Given the description of an element on the screen output the (x, y) to click on. 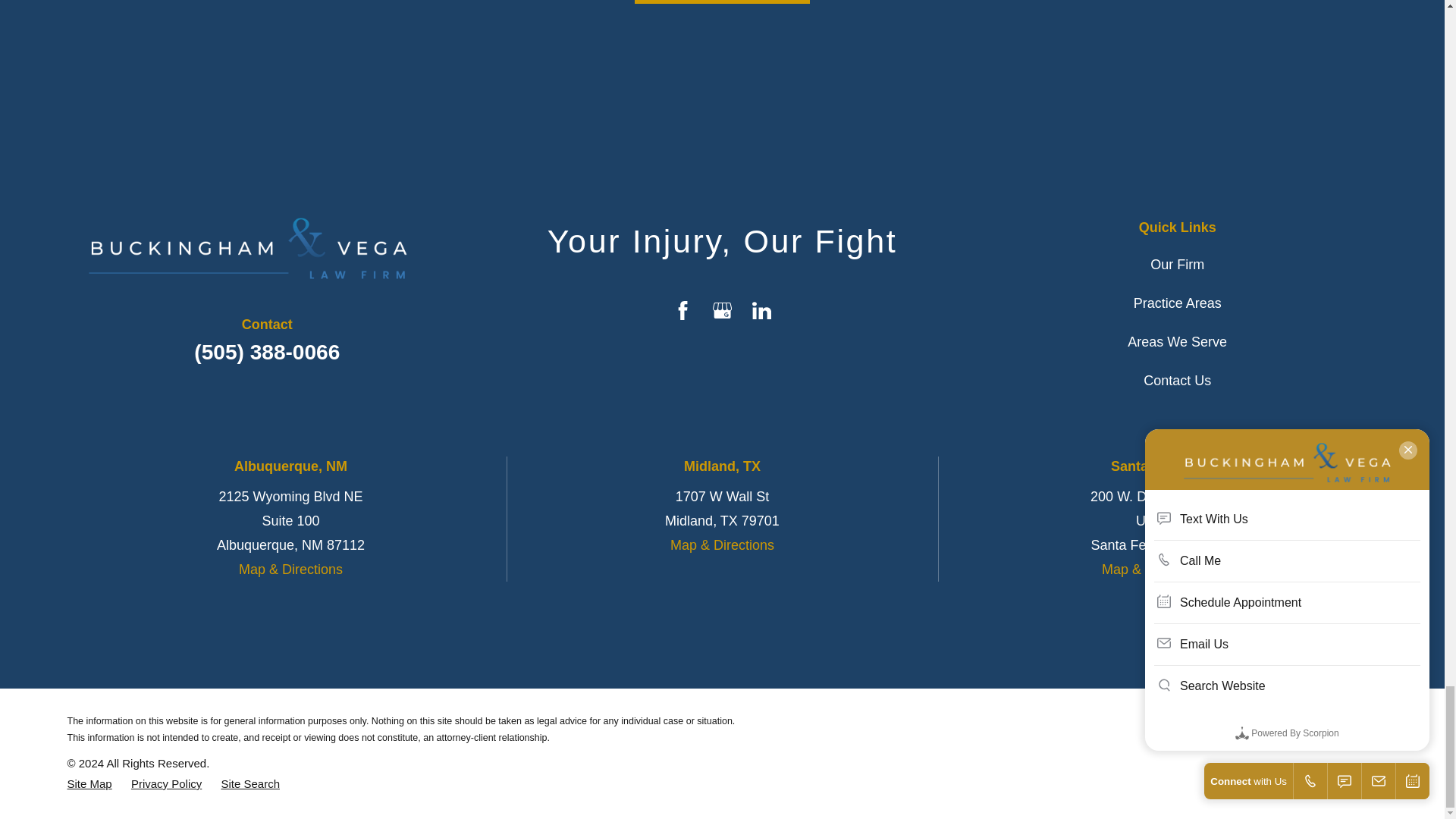
Facebook (682, 310)
Home (220, 247)
LinkedIn (761, 310)
Google Business Profile (722, 310)
